Given the description of an element on the screen output the (x, y) to click on. 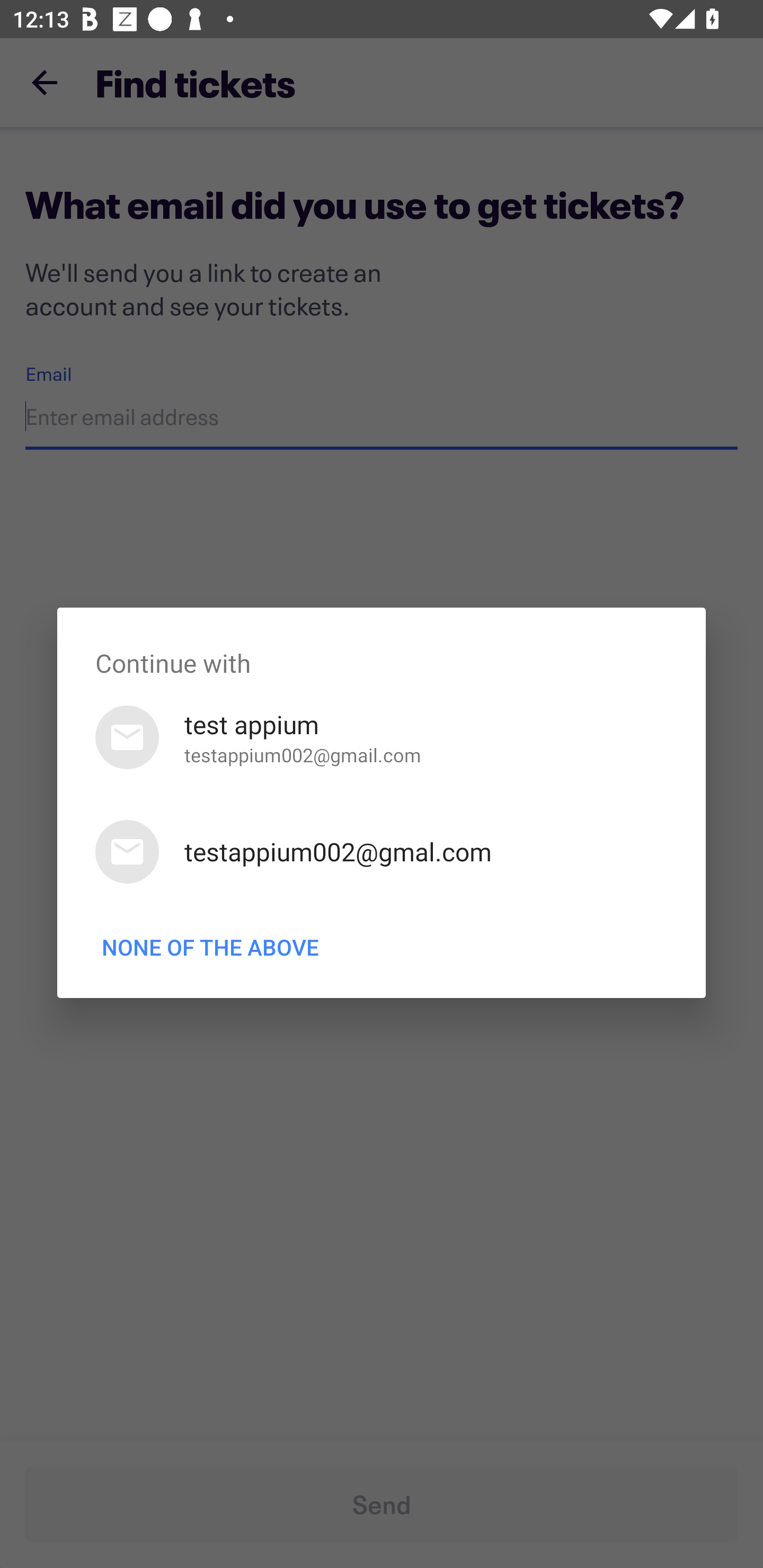
test appium test appium testappium002@gmail.com (381, 737)
testappium002@gmal.com (381, 851)
NONE OF THE ABOVE (210, 946)
